Given the description of an element on the screen output the (x, y) to click on. 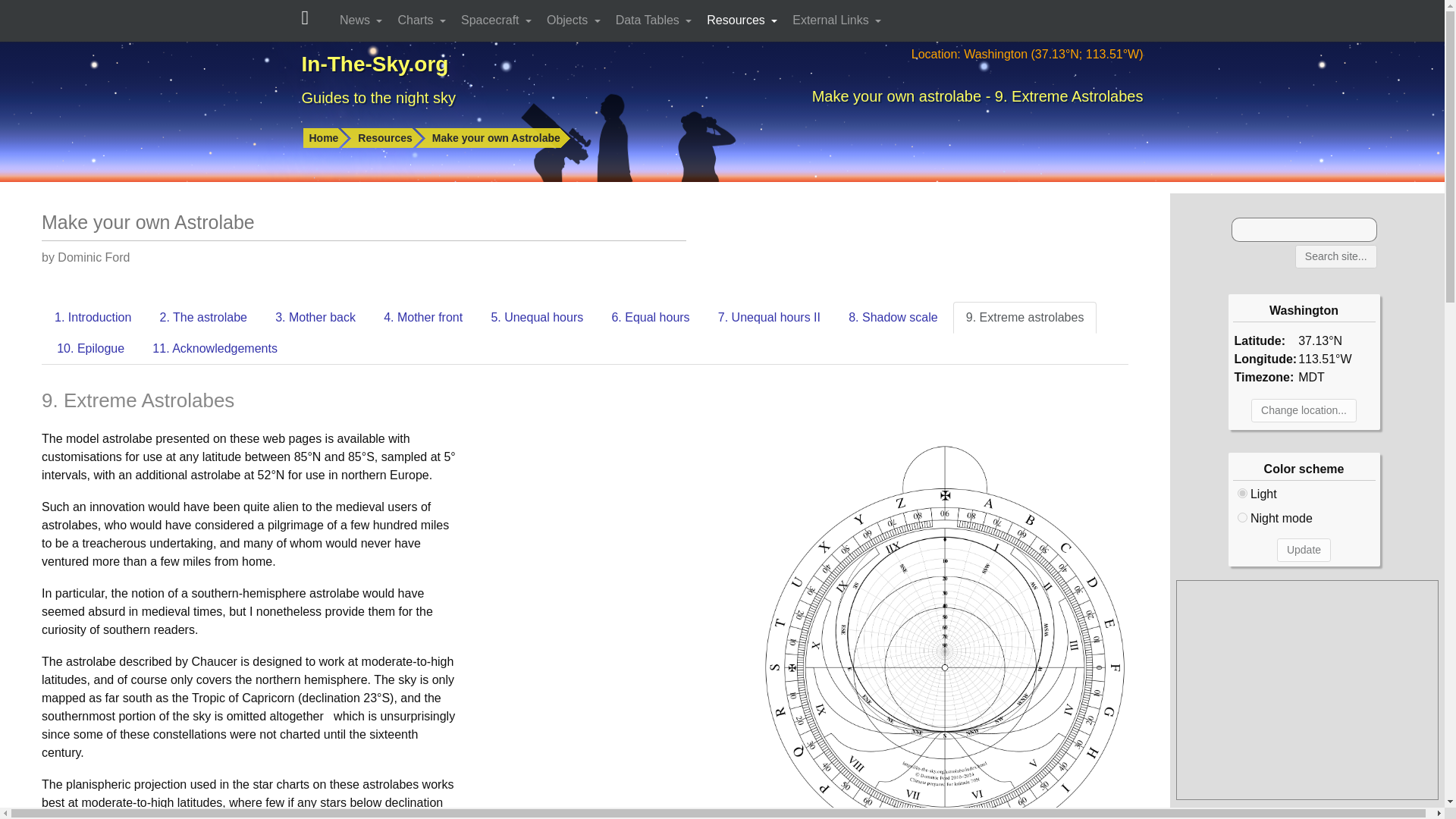
News (362, 20)
Home (326, 137)
1 (1242, 517)
Make your own Astrolabe (499, 137)
Search site... (1336, 256)
Update (1303, 549)
In-The-Sky.org (374, 64)
Advertisement (1306, 689)
Resources (388, 137)
Charts (422, 20)
Change location... (1303, 410)
0 (1242, 492)
Guides to the night sky (378, 97)
